Given the description of an element on the screen output the (x, y) to click on. 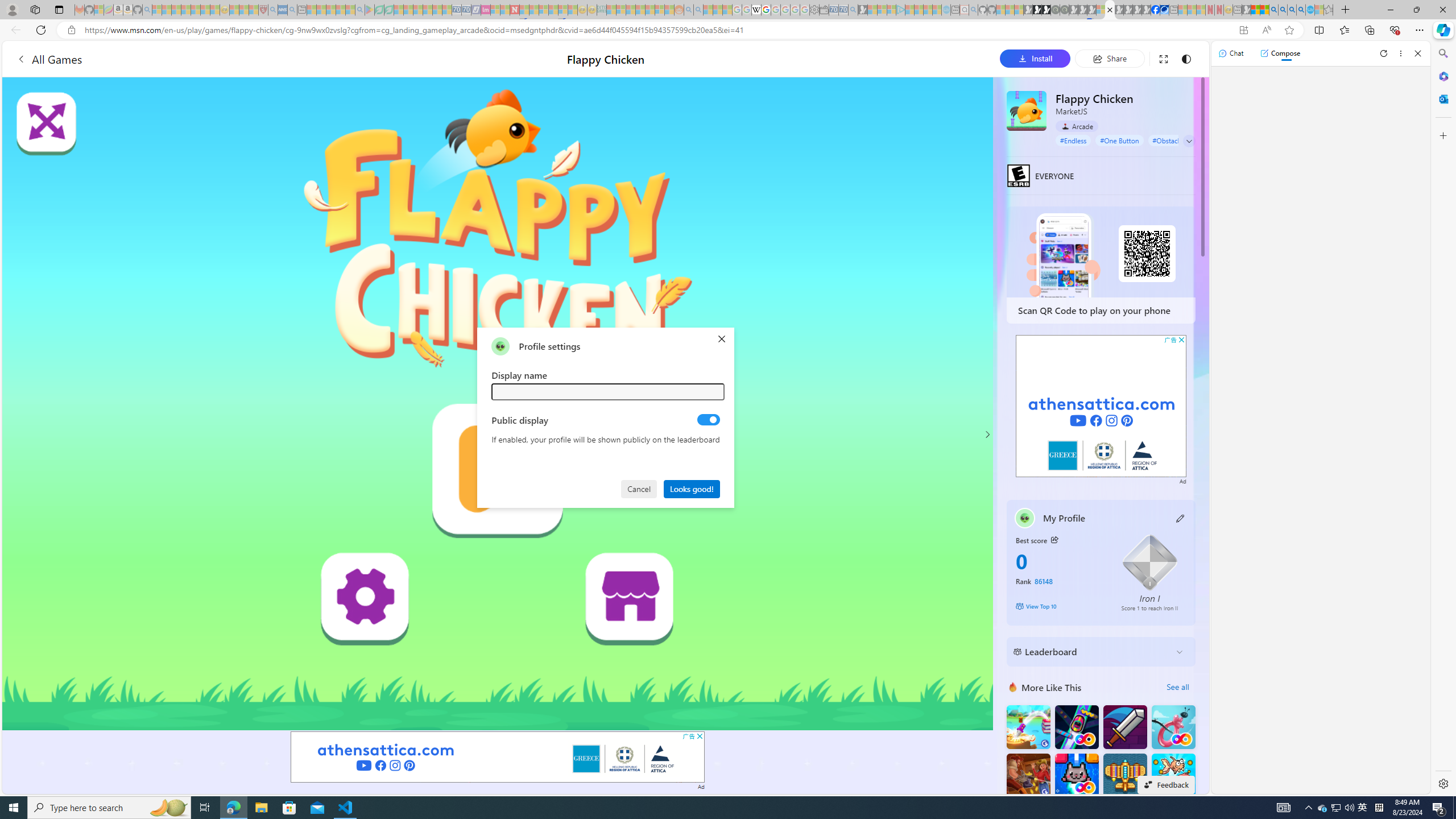
See all (1177, 687)
Saloon Robbery (1028, 775)
#Endless (1073, 140)
Google Chrome Internet Browser Download - Search Images (1300, 9)
